Given the description of an element on the screen output the (x, y) to click on. 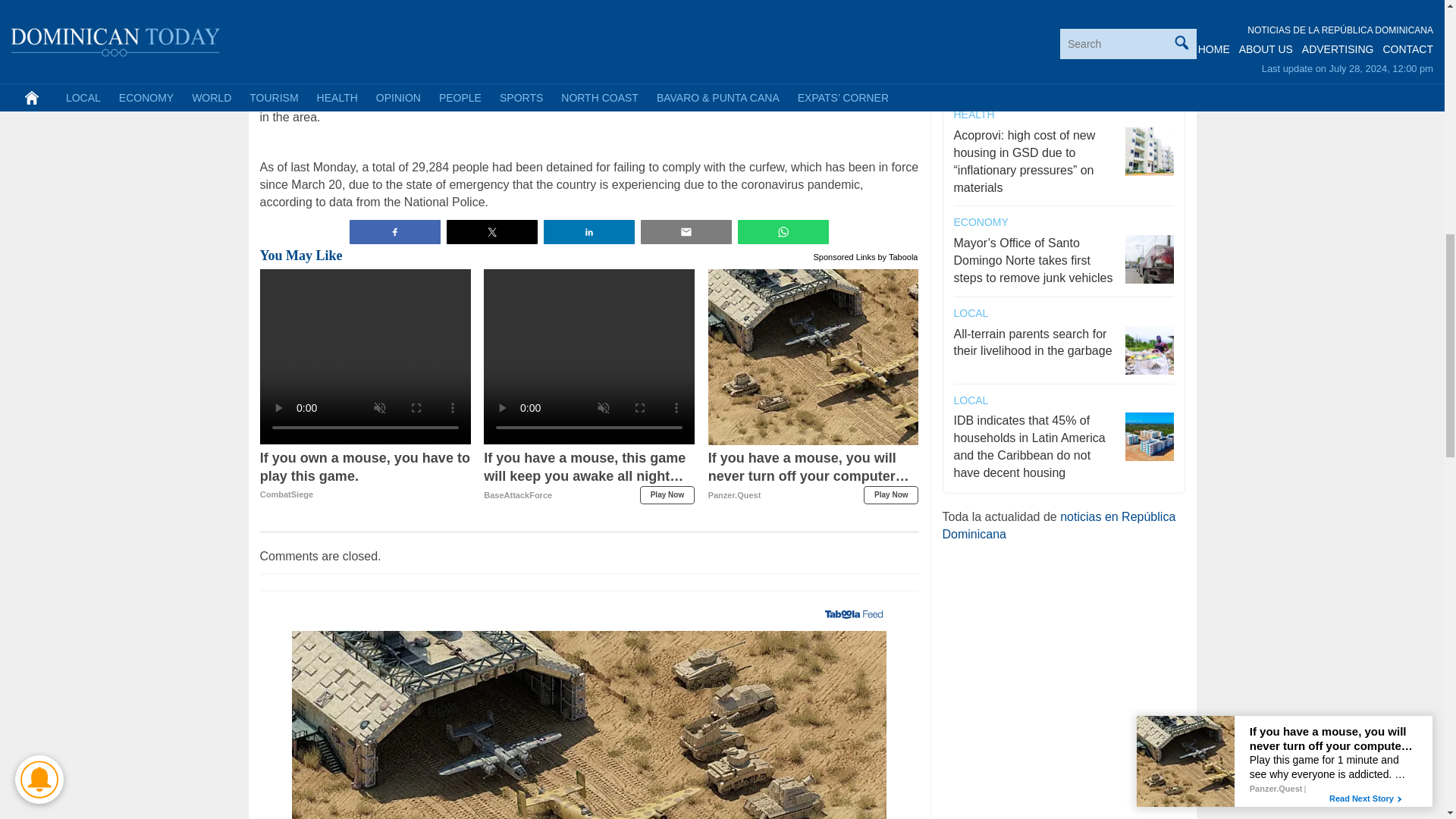
Play Now (365, 475)
by Taboola (667, 495)
Play Now (897, 255)
If you own a mouse, you have to play this game. (890, 495)
Sponsored Links (365, 475)
